Given the description of an element on the screen output the (x, y) to click on. 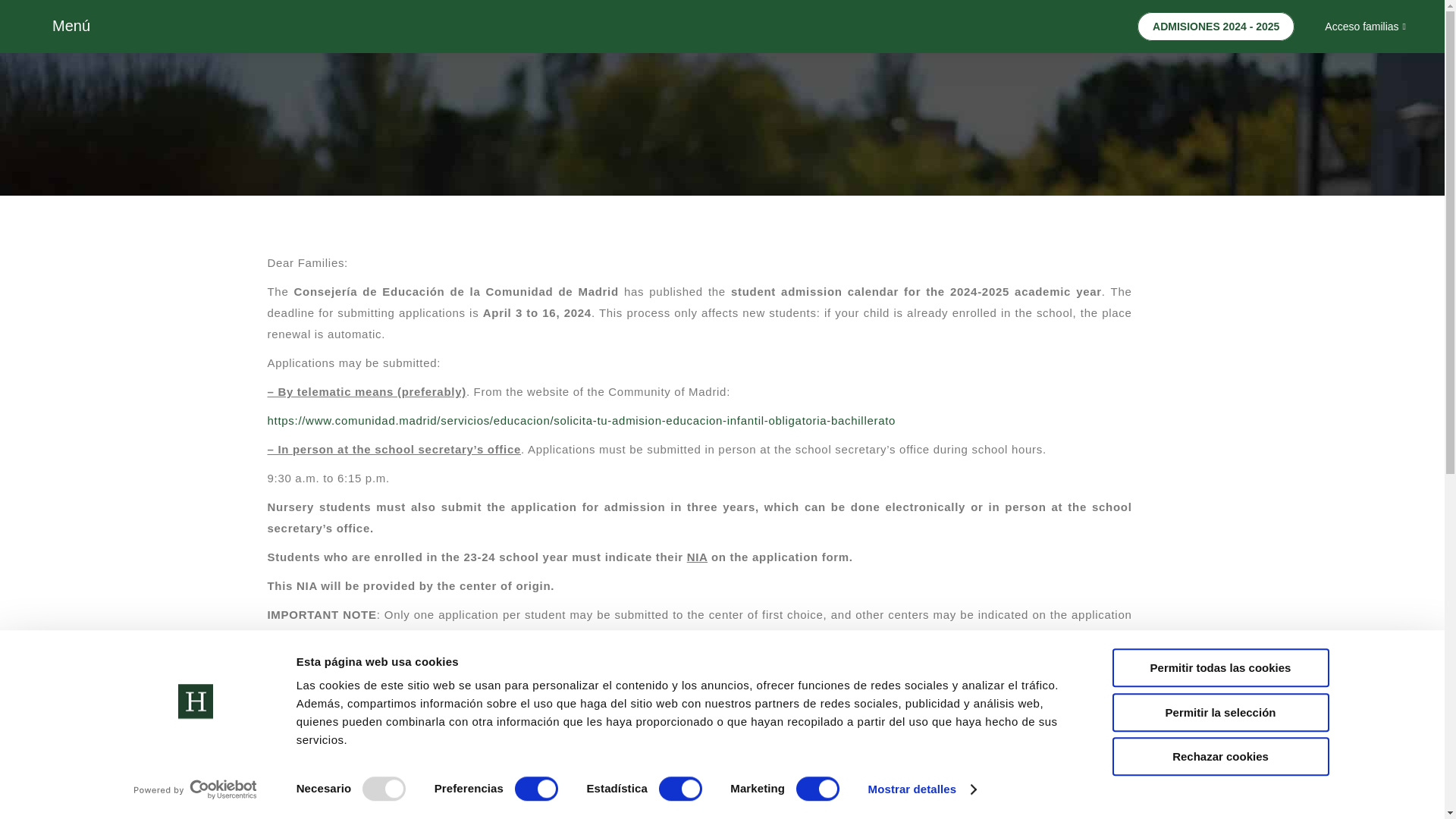
Mostrar detalles (921, 789)
Rechazar cookies (1219, 756)
Permitir todas las cookies (1219, 667)
